Given the description of an element on the screen output the (x, y) to click on. 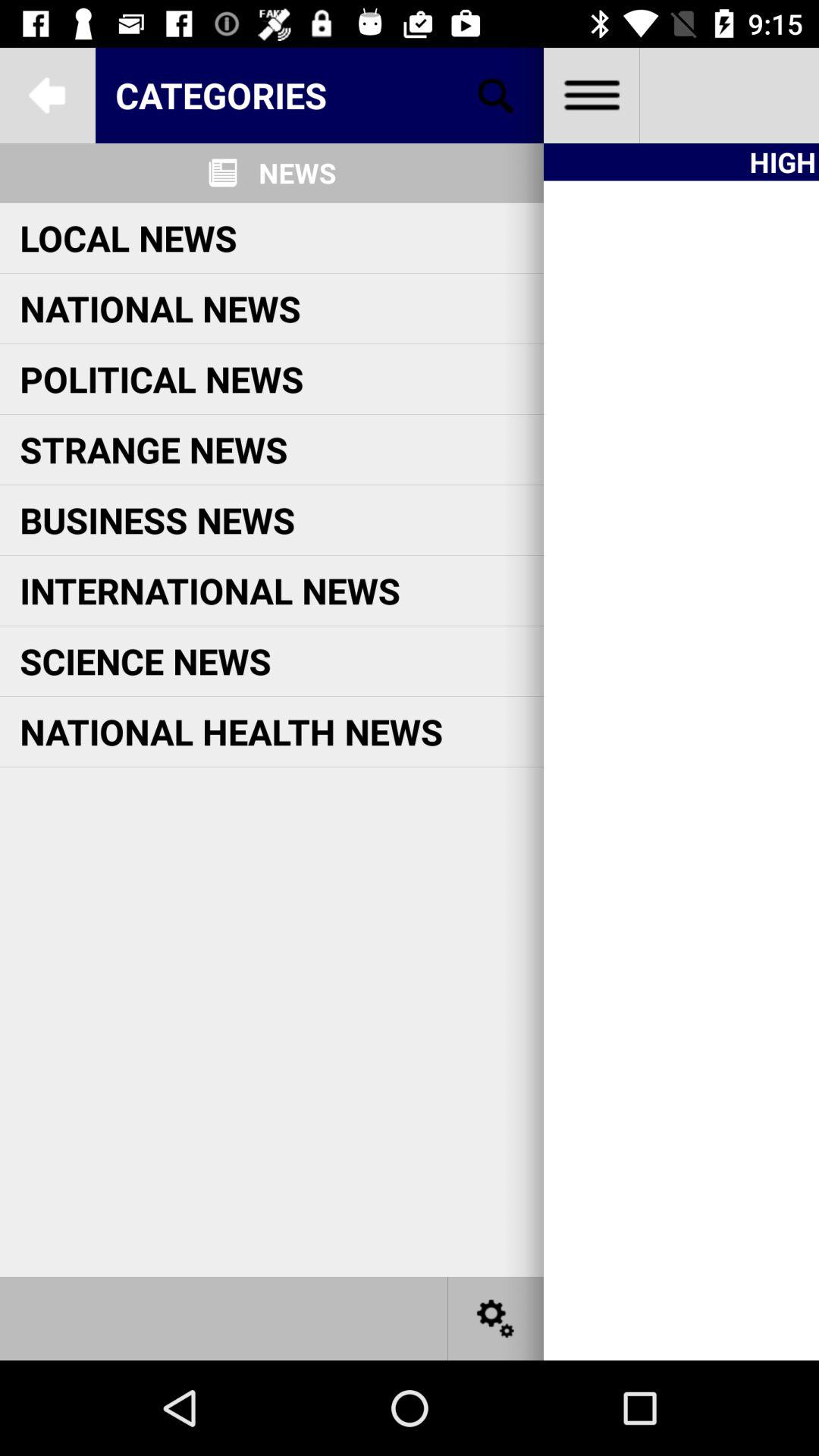
close sidebar (591, 95)
